Given the description of an element on the screen output the (x, y) to click on. 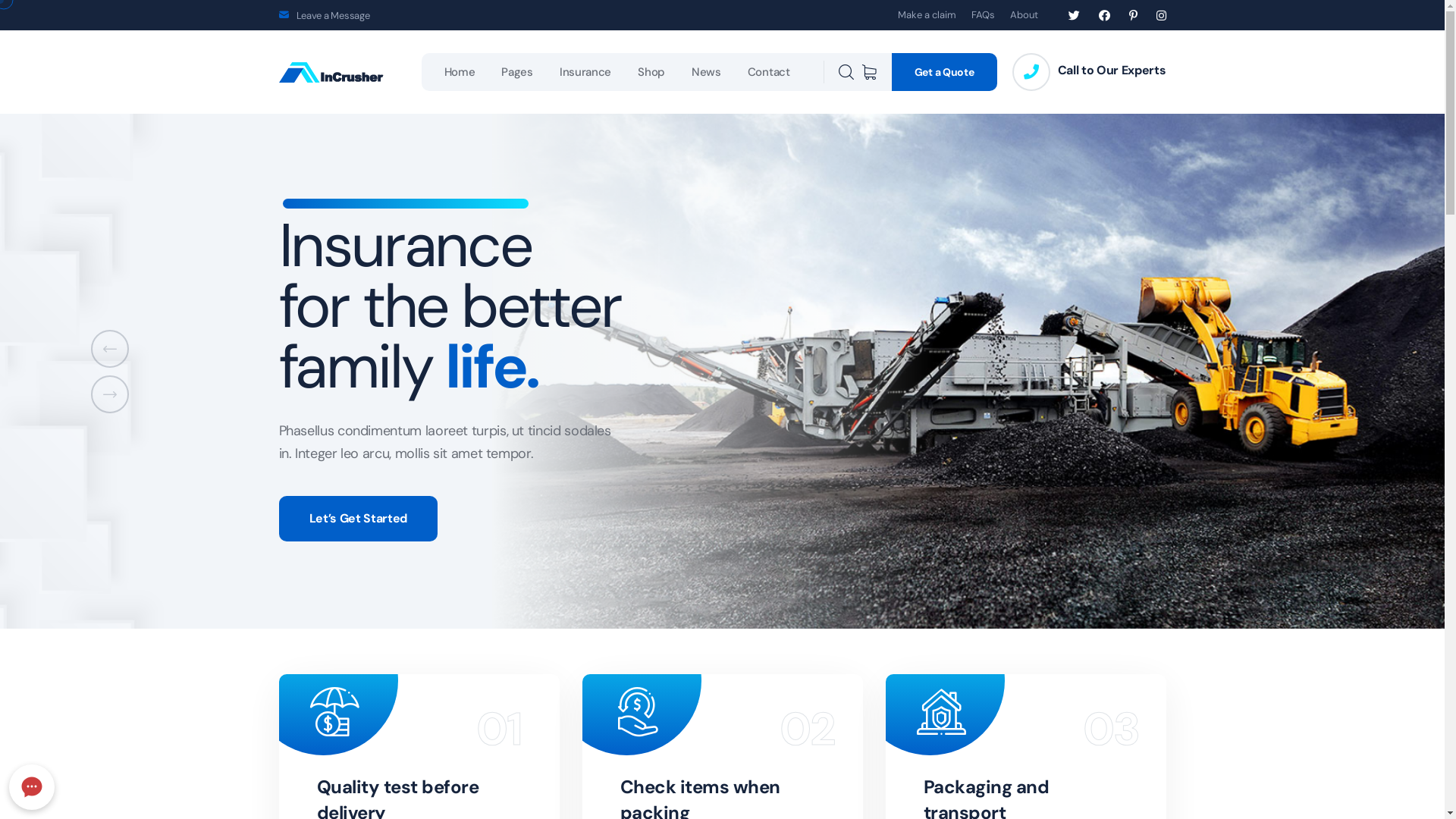
FAQs Element type: text (982, 15)
Shop Element type: text (651, 71)
News Element type: text (706, 71)
Home Element type: text (459, 71)
Make a claim Element type: text (926, 15)
Contact Element type: text (768, 71)
Leave a Message Element type: text (332, 15)
Insurance Element type: text (585, 71)
Call to Our Experts Element type: text (1111, 70)
Get a Quote Element type: text (944, 72)
Pages Element type: text (517, 71)
About Element type: text (1024, 15)
